Given the description of an element on the screen output the (x, y) to click on. 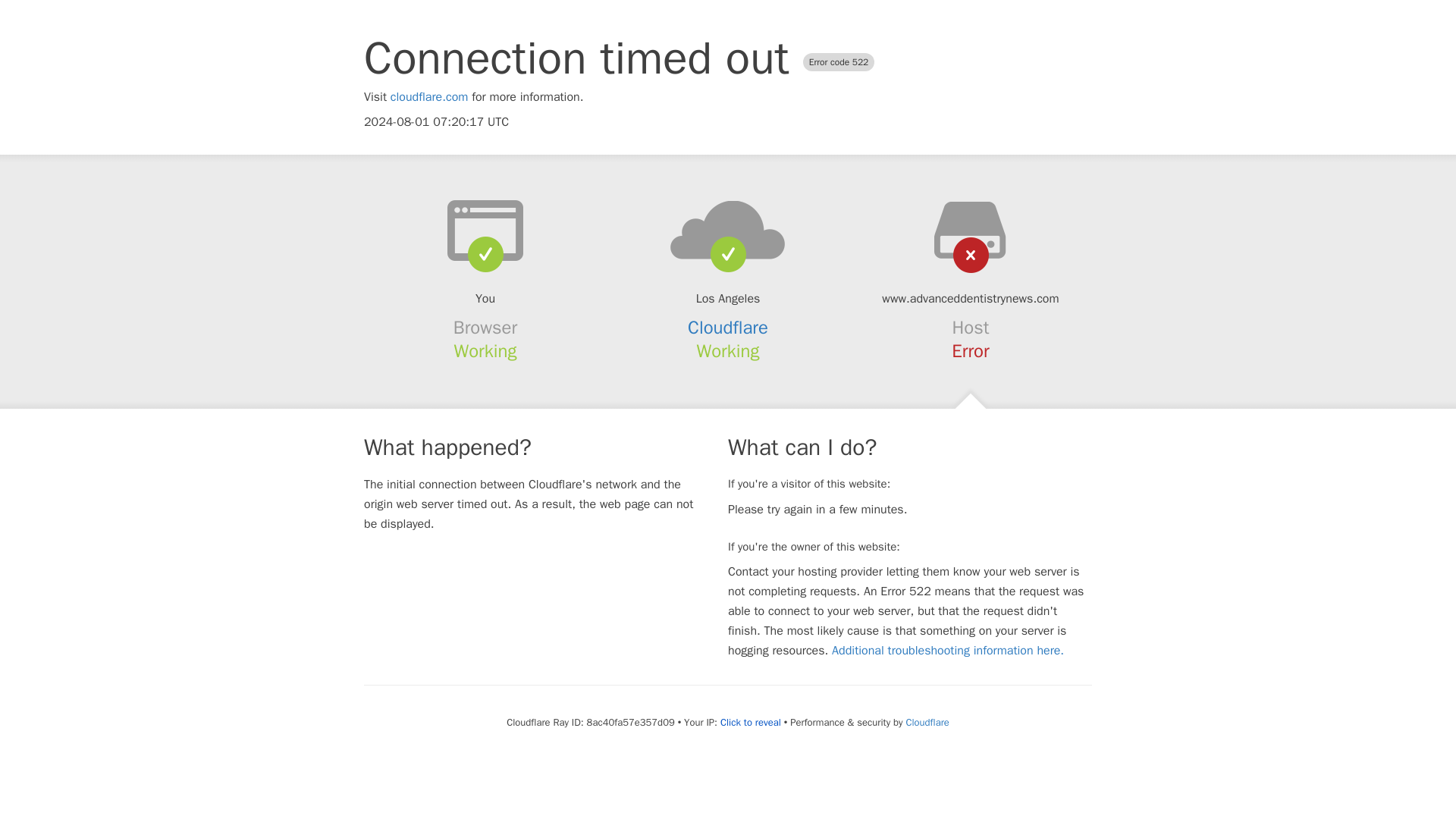
Cloudflare (727, 327)
Cloudflare (927, 721)
Click to reveal (750, 722)
Additional troubleshooting information here. (947, 650)
cloudflare.com (429, 96)
